Given the description of an element on the screen output the (x, y) to click on. 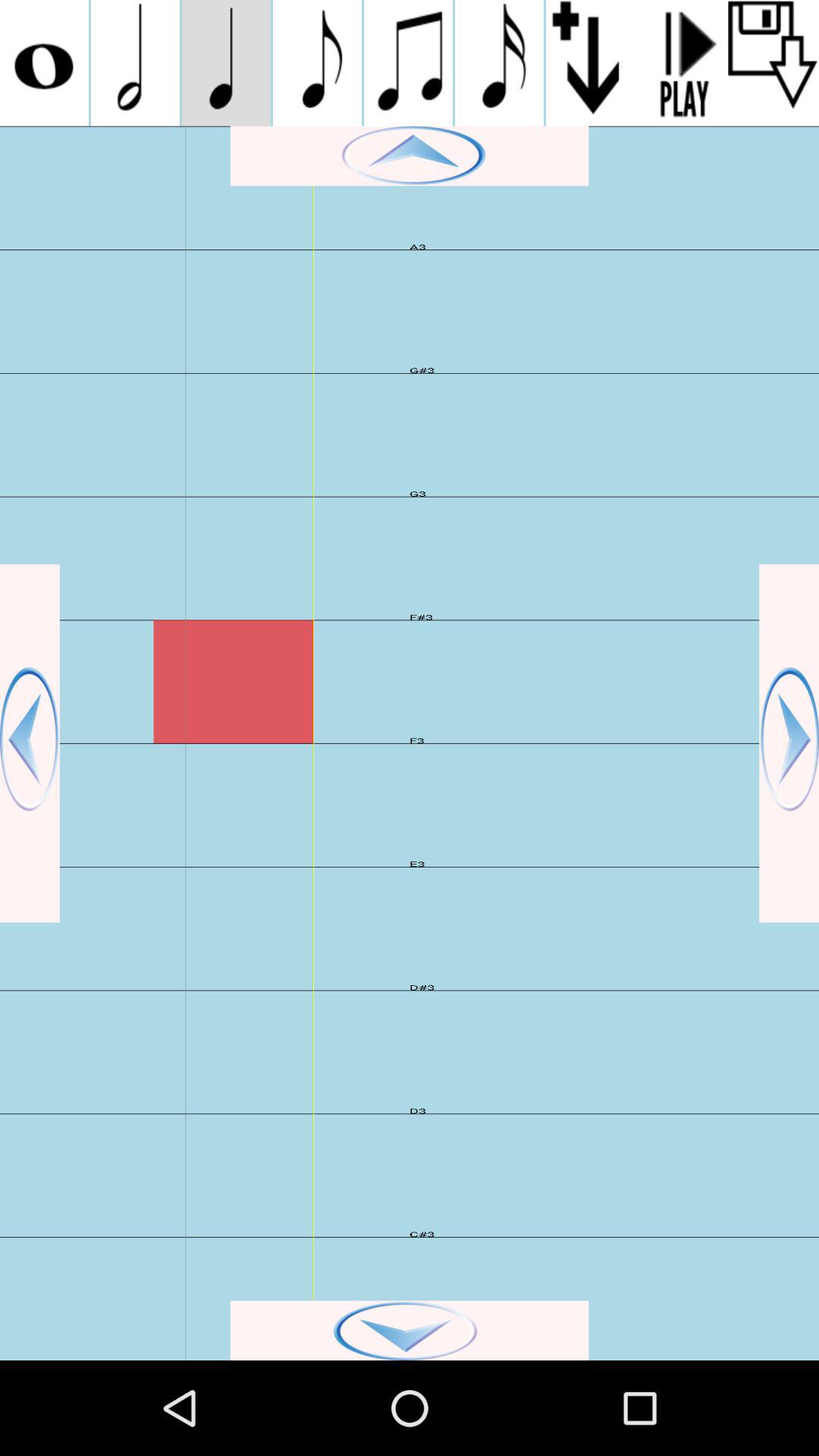
go to previous page (29, 742)
